Given the description of an element on the screen output the (x, y) to click on. 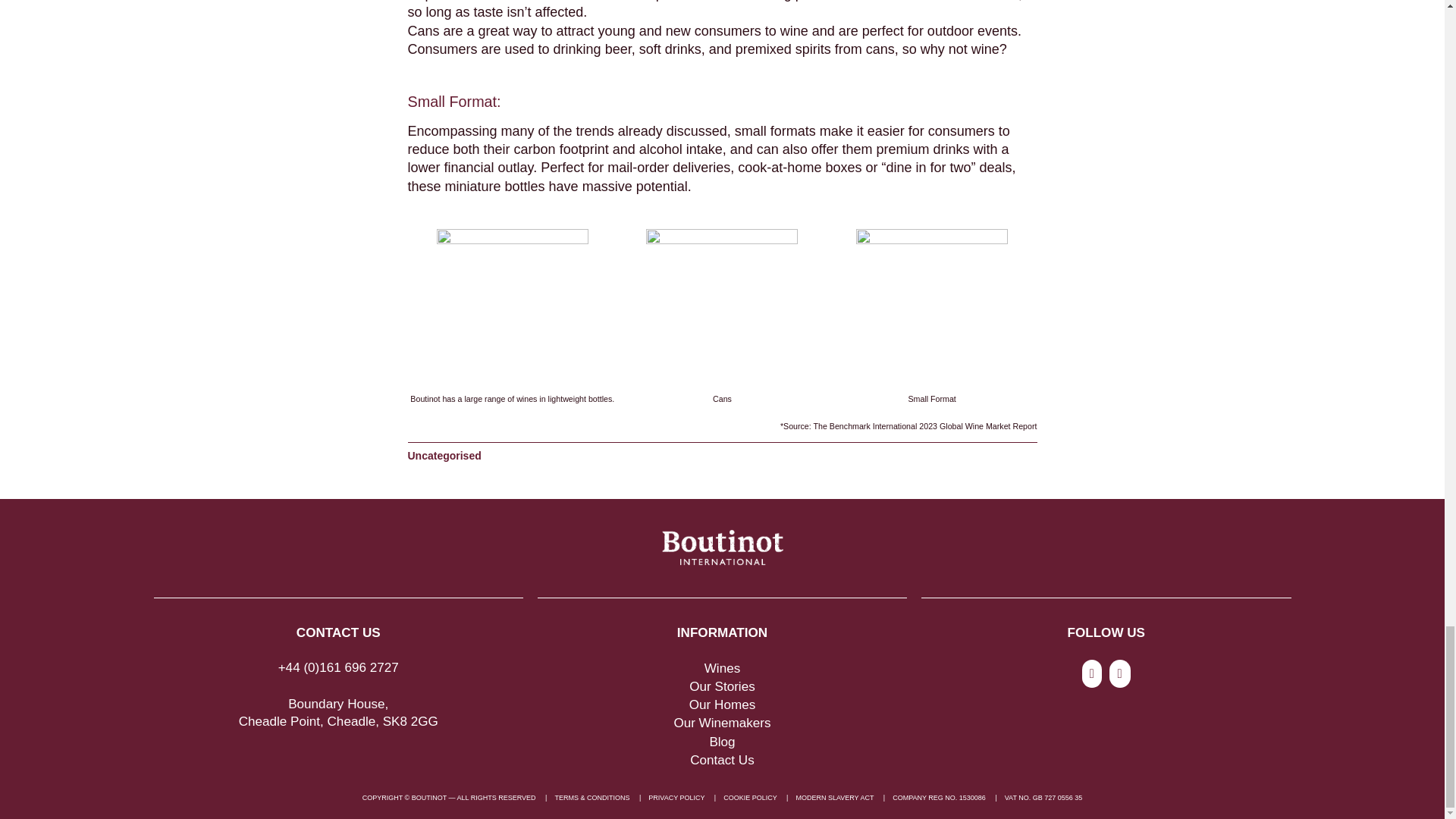
Blog (722, 741)
Uncategorised (444, 455)
Wines (722, 667)
Our Stories (721, 686)
Our Winemakers (721, 722)
Contact Us (722, 759)
Our Homes (721, 704)
